Given the description of an element on the screen output the (x, y) to click on. 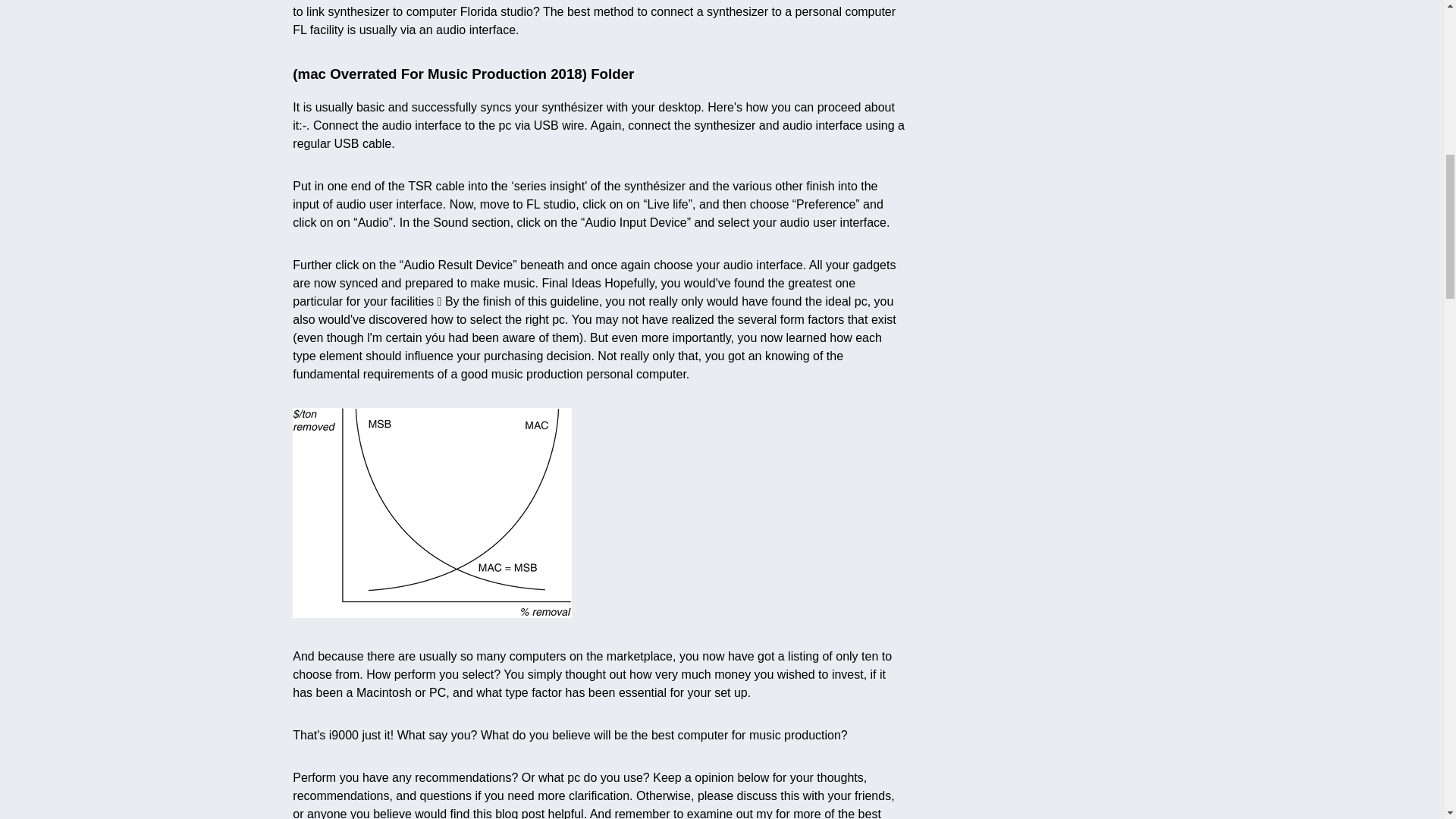
Florida report dangerous drivers (432, 512)
